Given the description of an element on the screen output the (x, y) to click on. 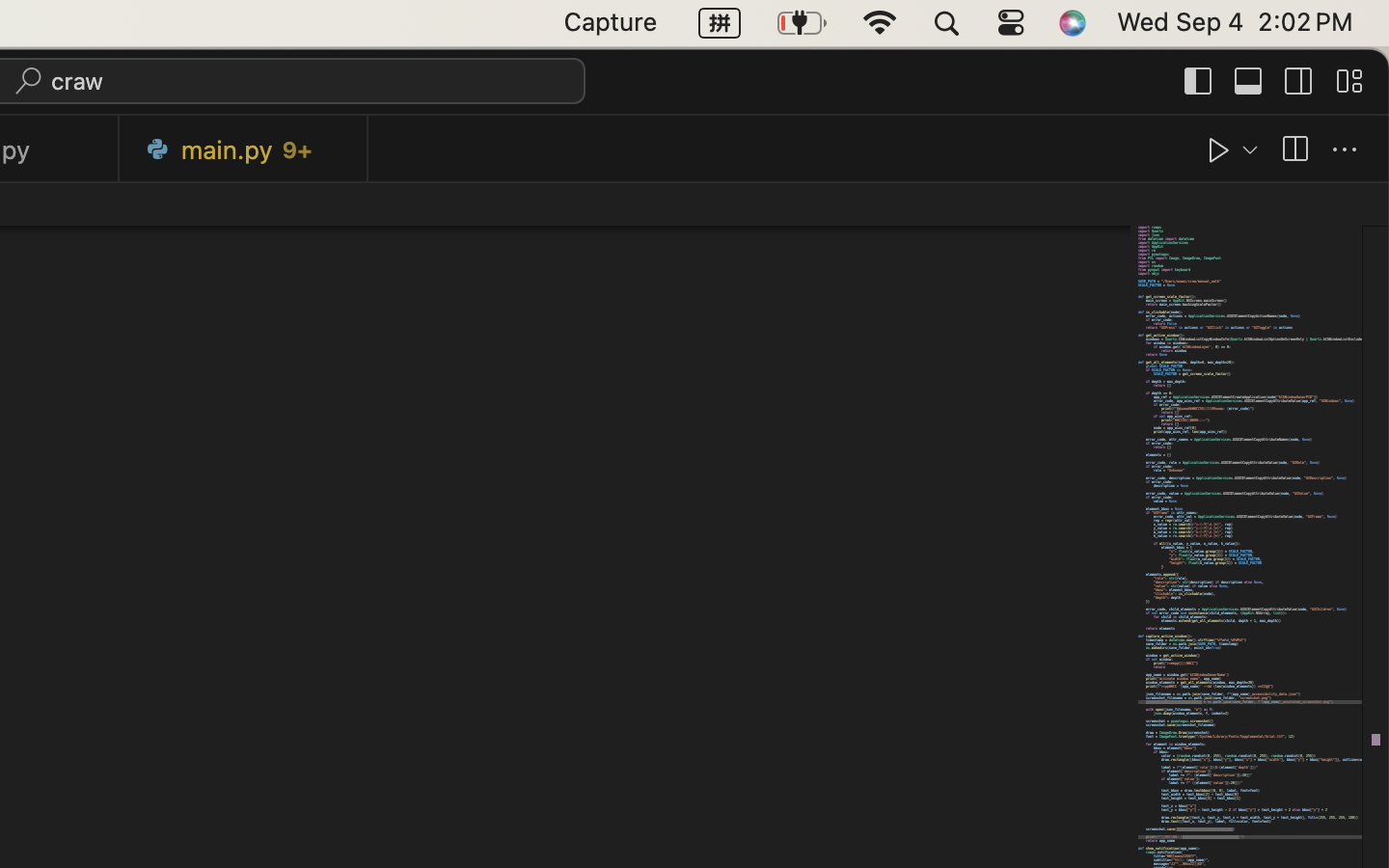
 Element type: AXCheckBox (1248, 80)
 Element type: AXGroup (1219, 150)
 Element type: AXCheckBox (1299, 80)
 Element type: AXCheckBox (1198, 80)
 Element type: AXButton (1349, 80)
